Given the description of an element on the screen output the (x, y) to click on. 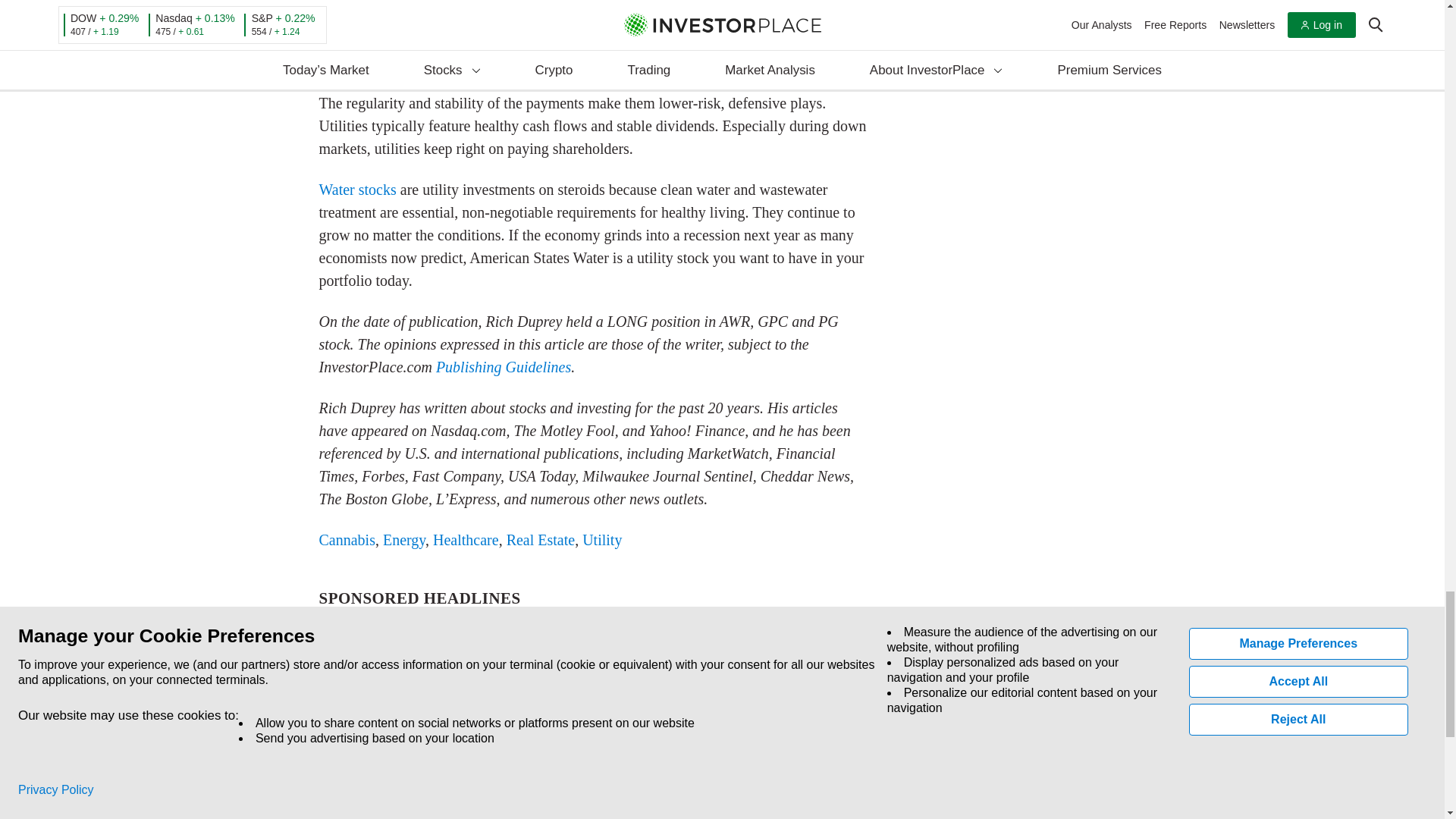
Articles from Real Estate industry (540, 539)
View profile of Luke Lango (406, 750)
Articles from Healthcare industry (465, 539)
Articles from Cannabis industry (346, 539)
Articles from Energy industry (403, 539)
Articles from Utility industry (601, 539)
7 Chip Stocks to Ride the 2024 AI Wave (812, 803)
